Given the description of an element on the screen output the (x, y) to click on. 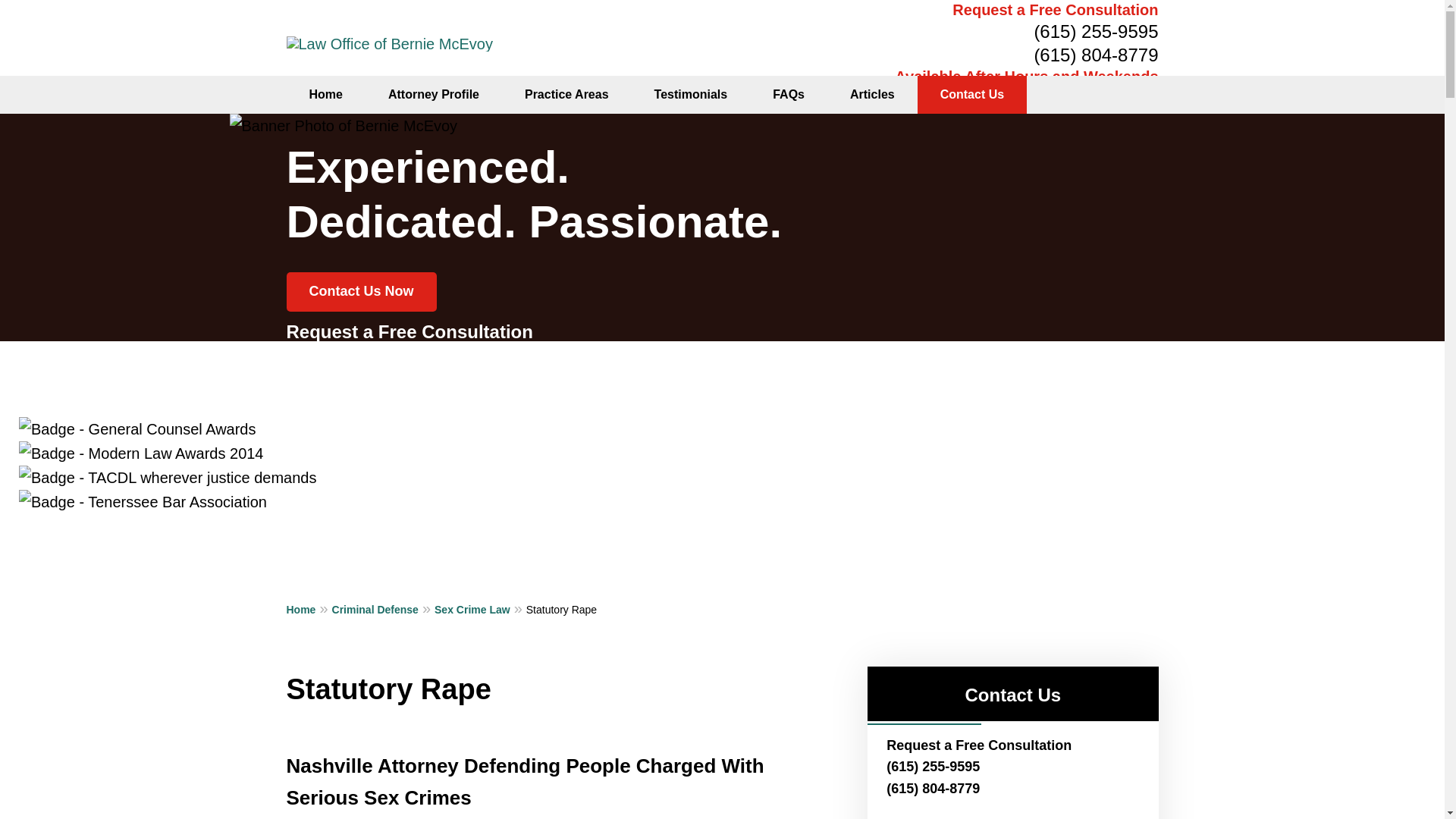
Request a Free Consultation (1054, 9)
Contact Us (1012, 694)
Contact Us Now (361, 291)
Home (308, 608)
Contact Us (971, 94)
FAQs (788, 94)
Practice Areas (566, 94)
Criminal Defense (383, 608)
Available After Hours and Weekends (1026, 76)
Attorney Profile (433, 94)
